Given the description of an element on the screen output the (x, y) to click on. 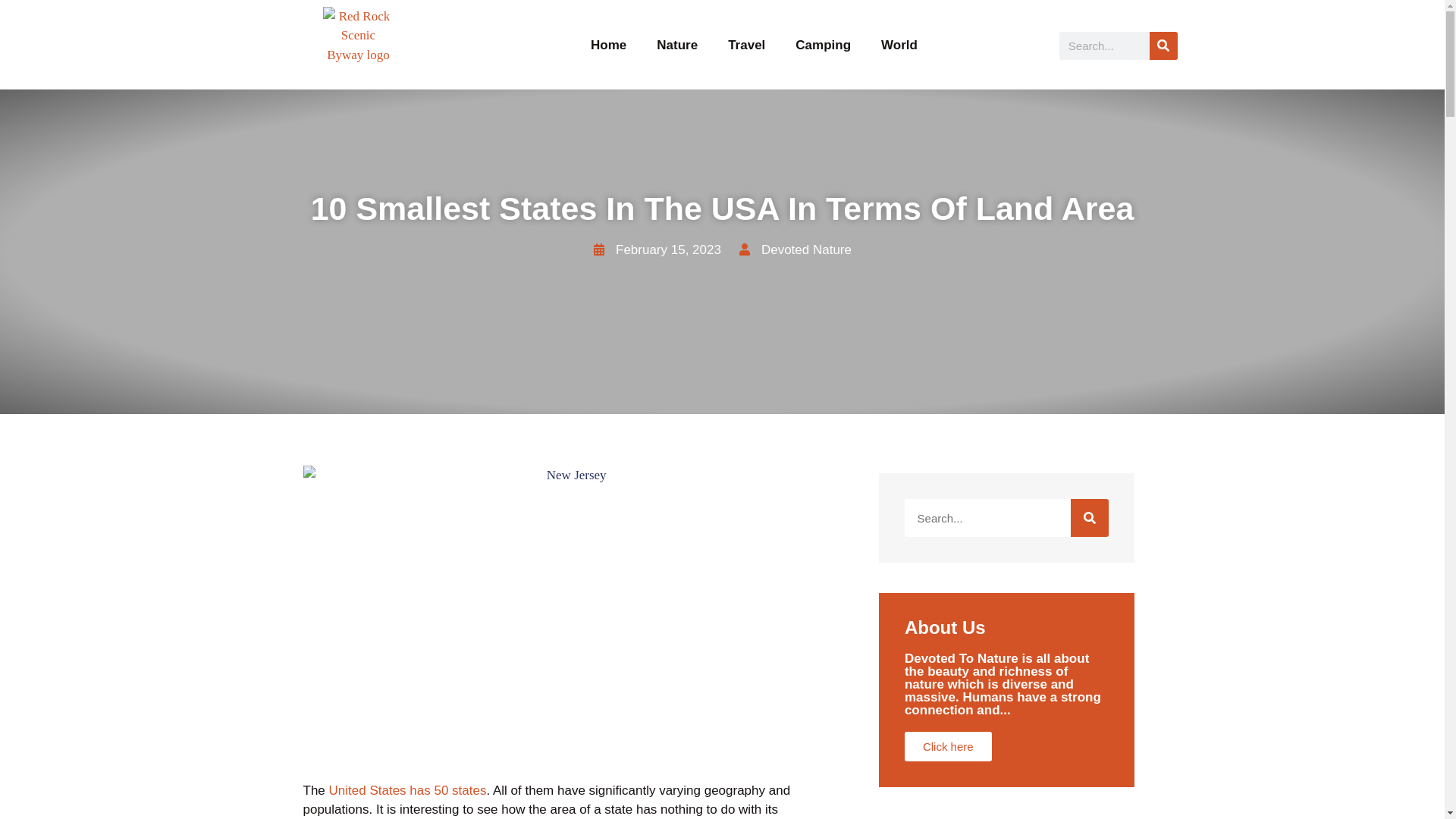
United States has 50 states (407, 789)
World (899, 45)
February 15, 2023 (656, 250)
Nature (677, 45)
Travel (746, 45)
Home (608, 45)
Click here (947, 746)
Devoted Nature (794, 250)
Camping (823, 45)
